Given the description of an element on the screen output the (x, y) to click on. 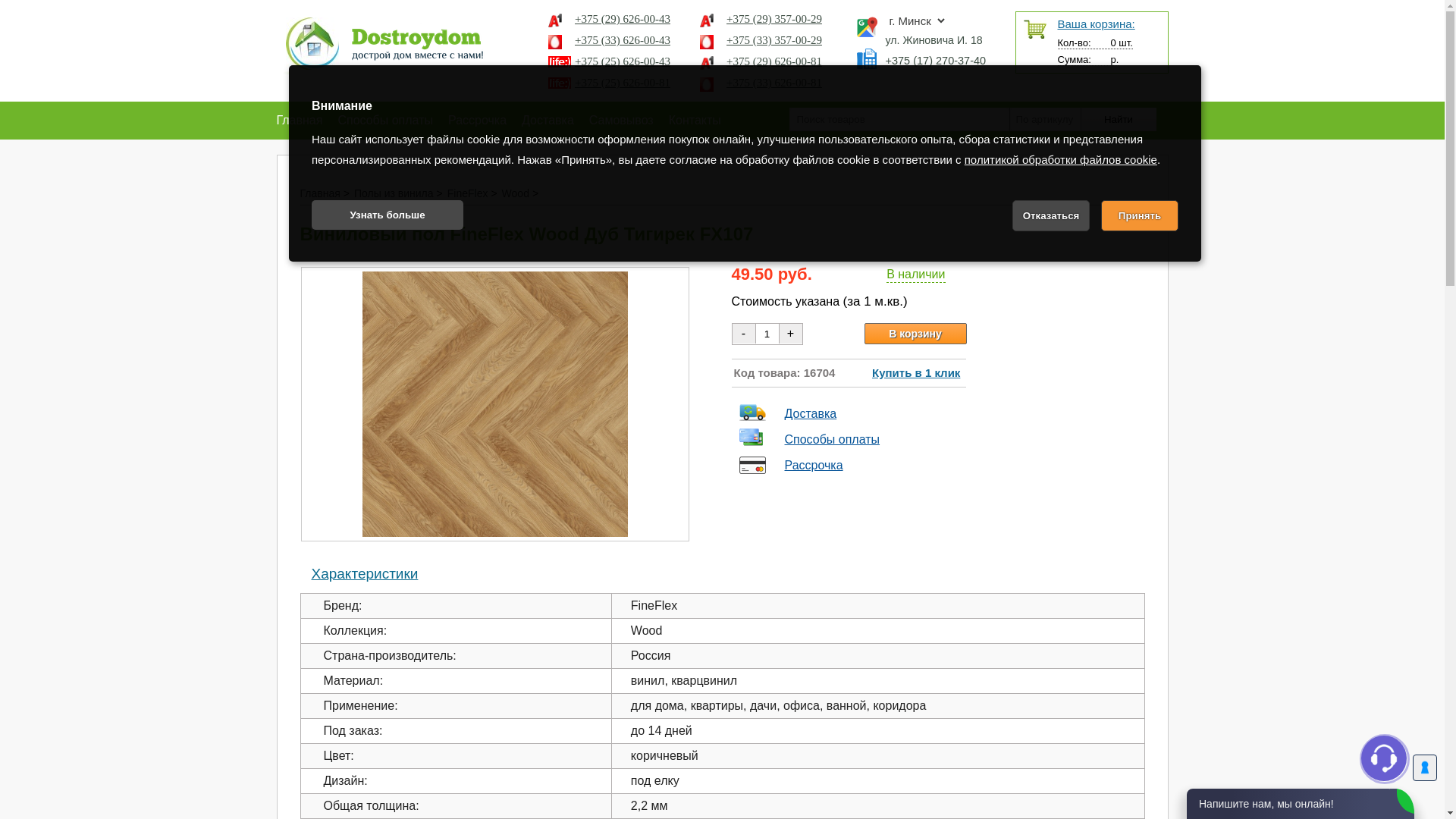
FineFlex Element type: text (470, 192)
Wood Element type: text (519, 192)
+375 (17) 270-37-40 Element type: text (925, 73)
